Given the description of an element on the screen output the (x, y) to click on. 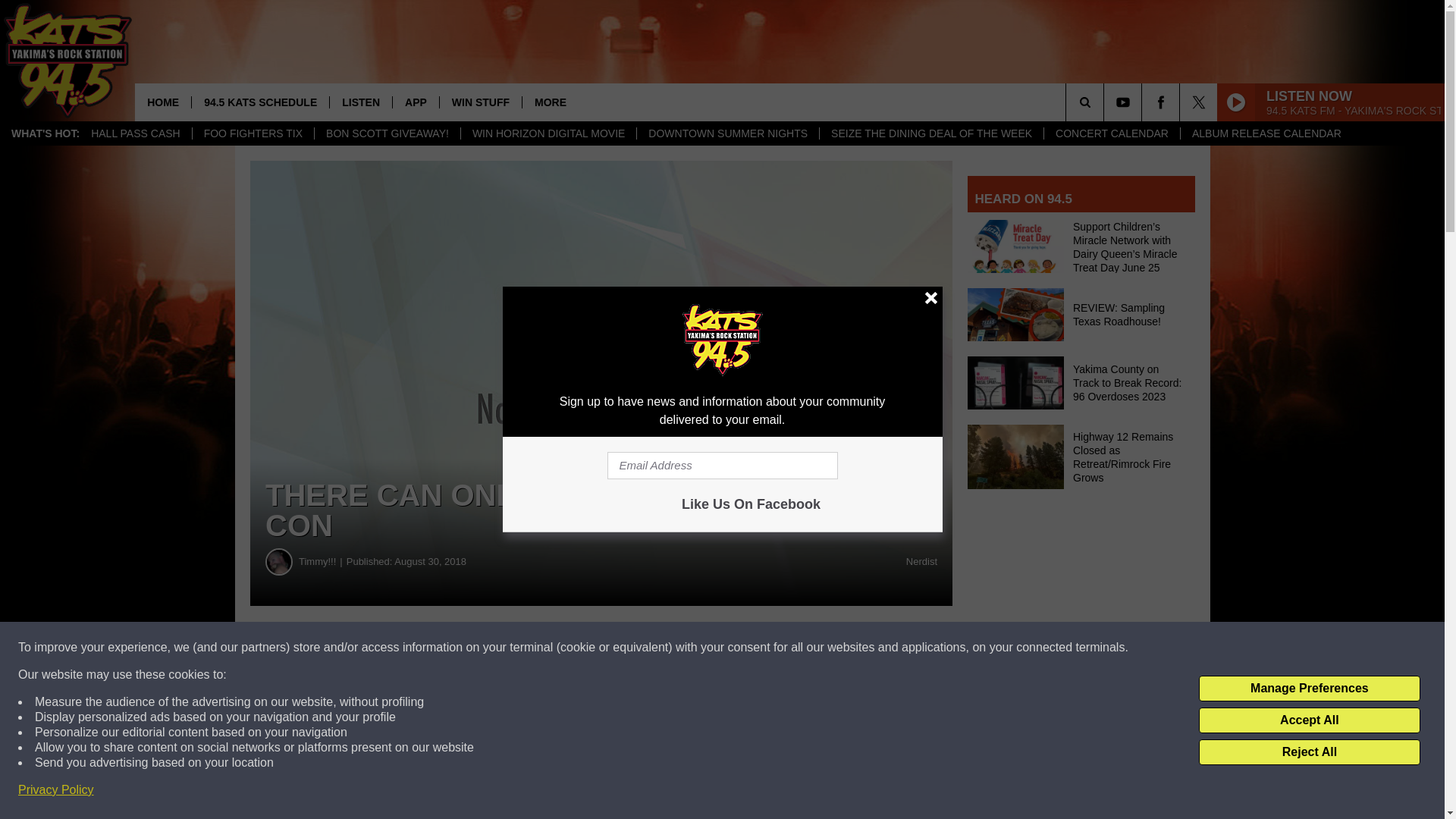
94.5 KATS SCHEDULE (259, 102)
DOWNTOWN SUMMER NIGHTS (727, 133)
SEIZE THE DINING DEAL OF THE WEEK (930, 133)
LISTEN (360, 102)
Manage Preferences (1309, 688)
BON SCOTT GIVEAWAY! (387, 133)
HALL PASS CASH (136, 133)
HOME (162, 102)
ALBUM RELEASE CALENDAR (1265, 133)
Share on Twitter (741, 647)
FOO FIGHTERS TIX (253, 133)
SEARCH (1106, 102)
Reject All (1309, 751)
CONCERT CALENDAR (1111, 133)
Email Address (722, 465)
